Given the description of an element on the screen output the (x, y) to click on. 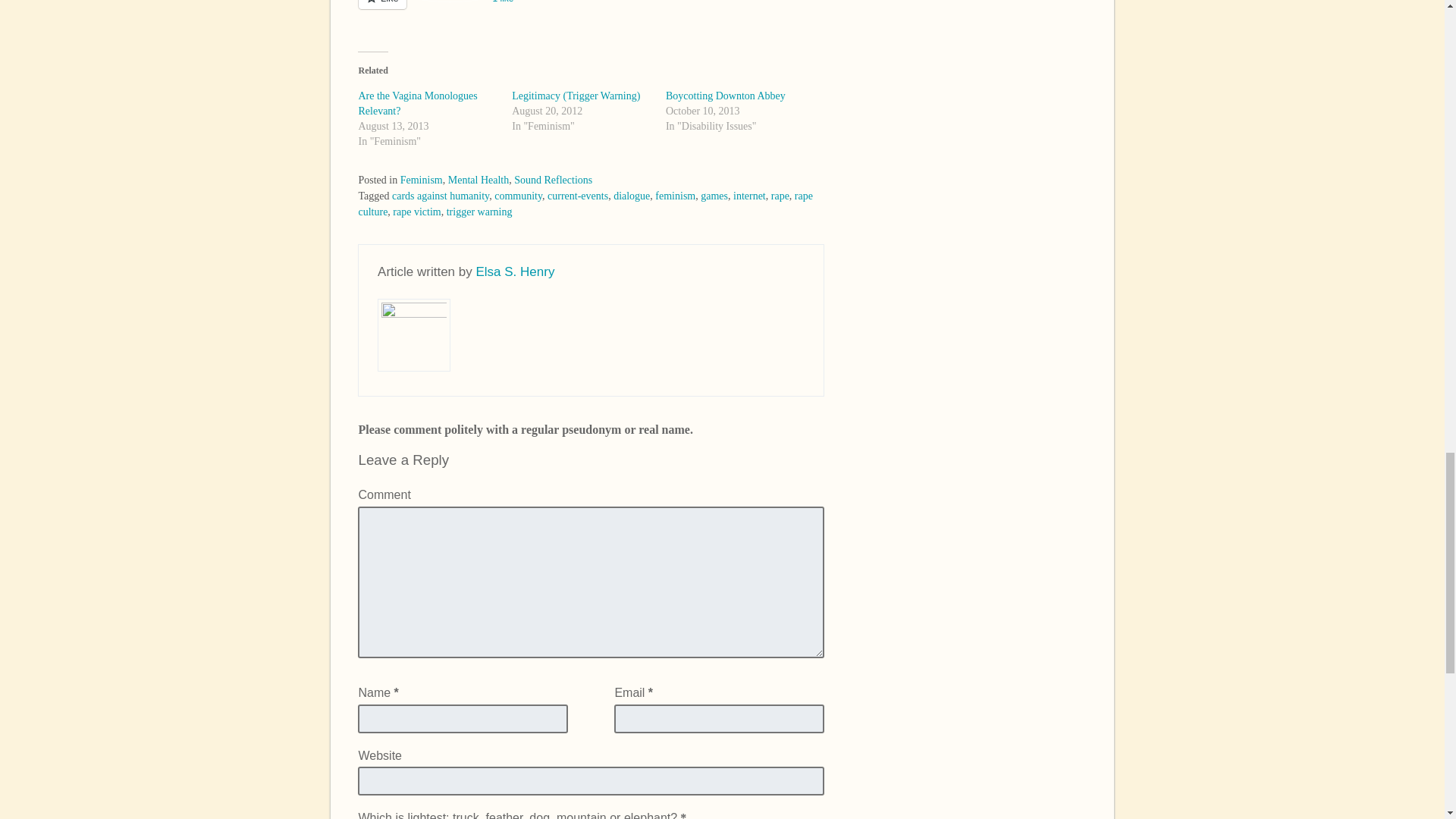
current-events (577, 195)
Sound Reflections (552, 179)
cards against humanity (440, 195)
feminism (675, 195)
Mental Health (478, 179)
internet (749, 195)
games (714, 195)
dialogue (630, 195)
Boycotting Downton Abbey (725, 95)
community (518, 195)
Feminism (421, 179)
Are the Vagina Monologues Relevant? (417, 103)
